Given the description of an element on the screen output the (x, y) to click on. 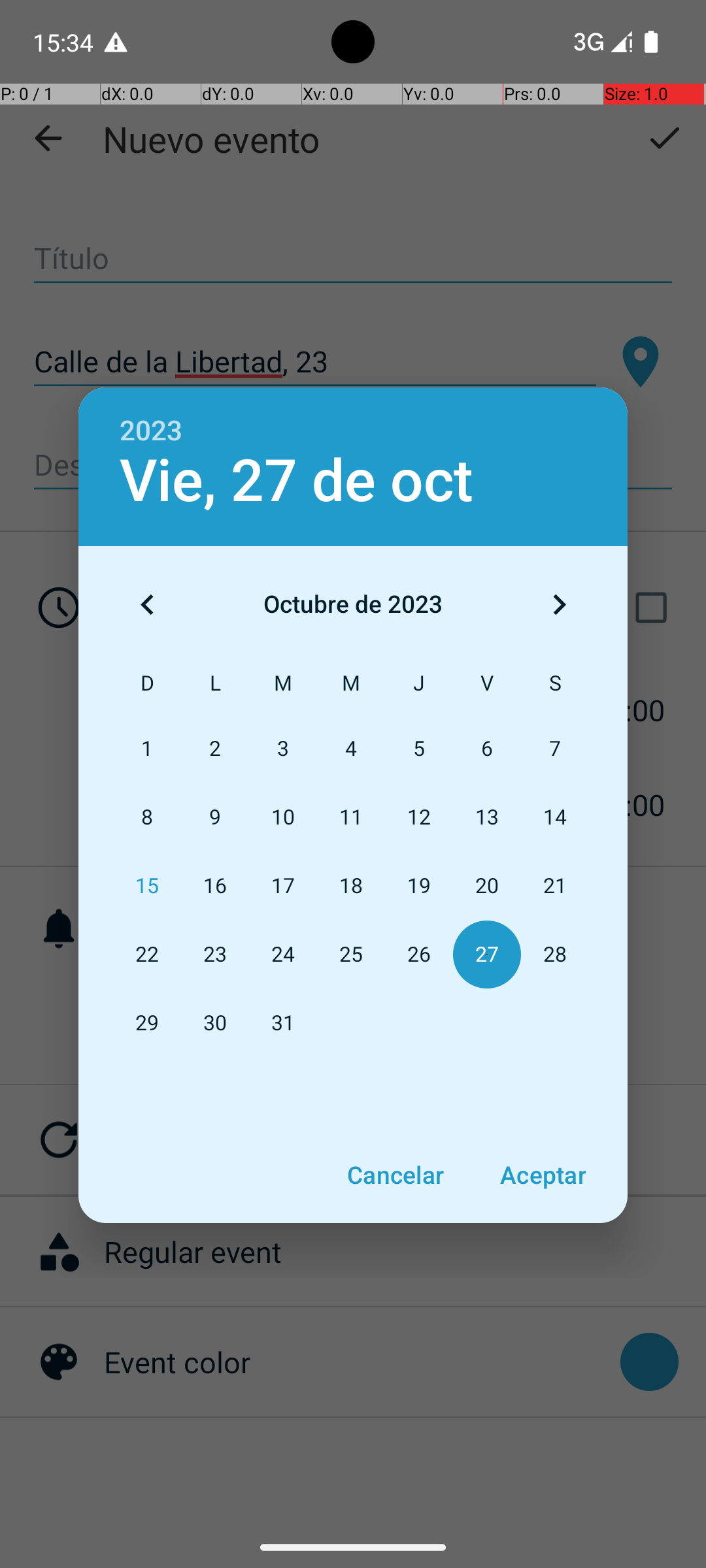
Vie, 27 de oct Element type: android.widget.TextView (296, 480)
Mes anterior Element type: android.widget.ImageButton (146, 604)
Mes siguiente Element type: android.widget.ImageButton (558, 604)
Cancelar Element type: android.widget.Button (394, 1174)
